Given the description of an element on the screen output the (x, y) to click on. 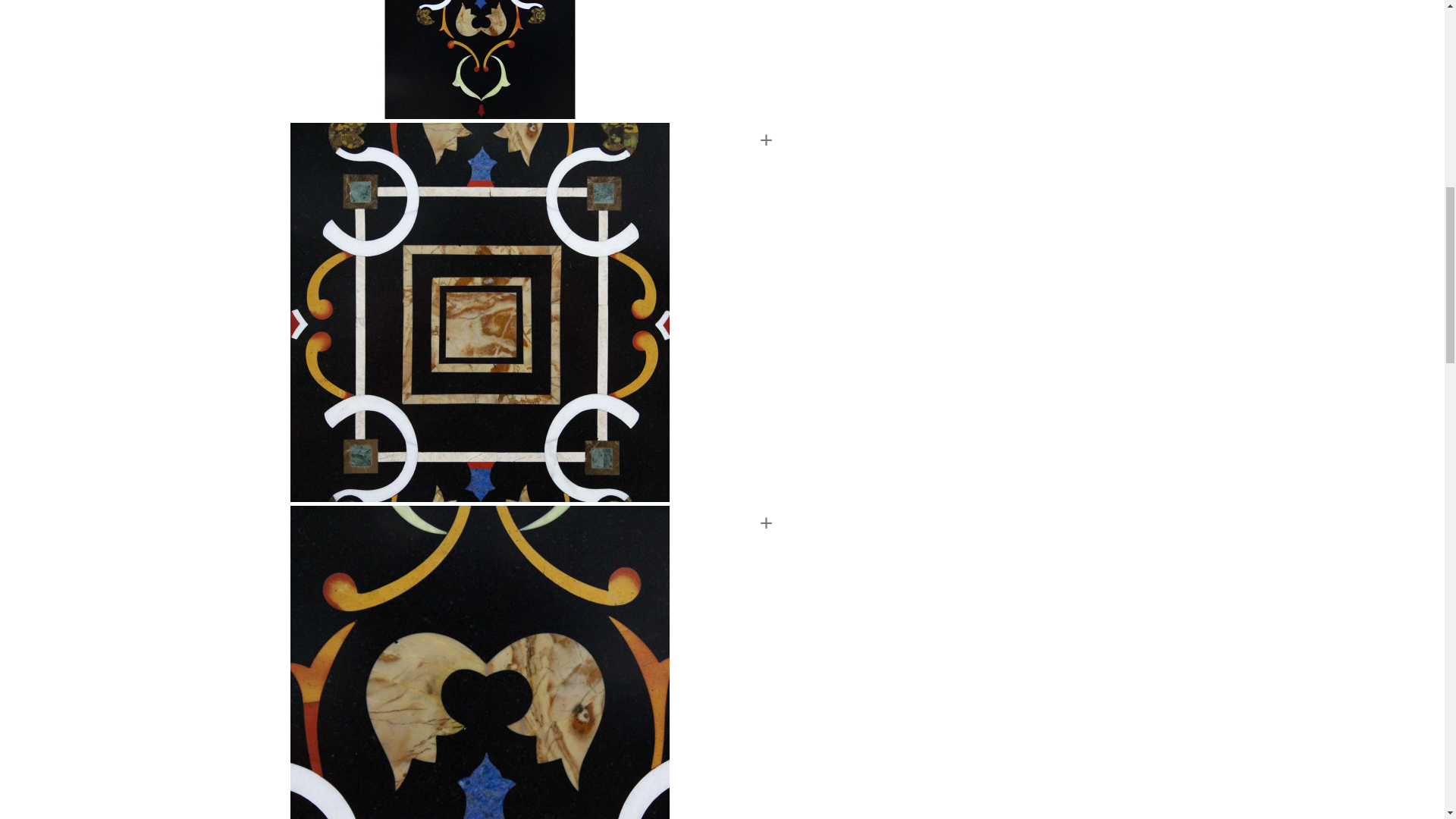
 Vintage Art Black Marble Coffee Table For Outdoor (536, 59)
